Given the description of an element on the screen output the (x, y) to click on. 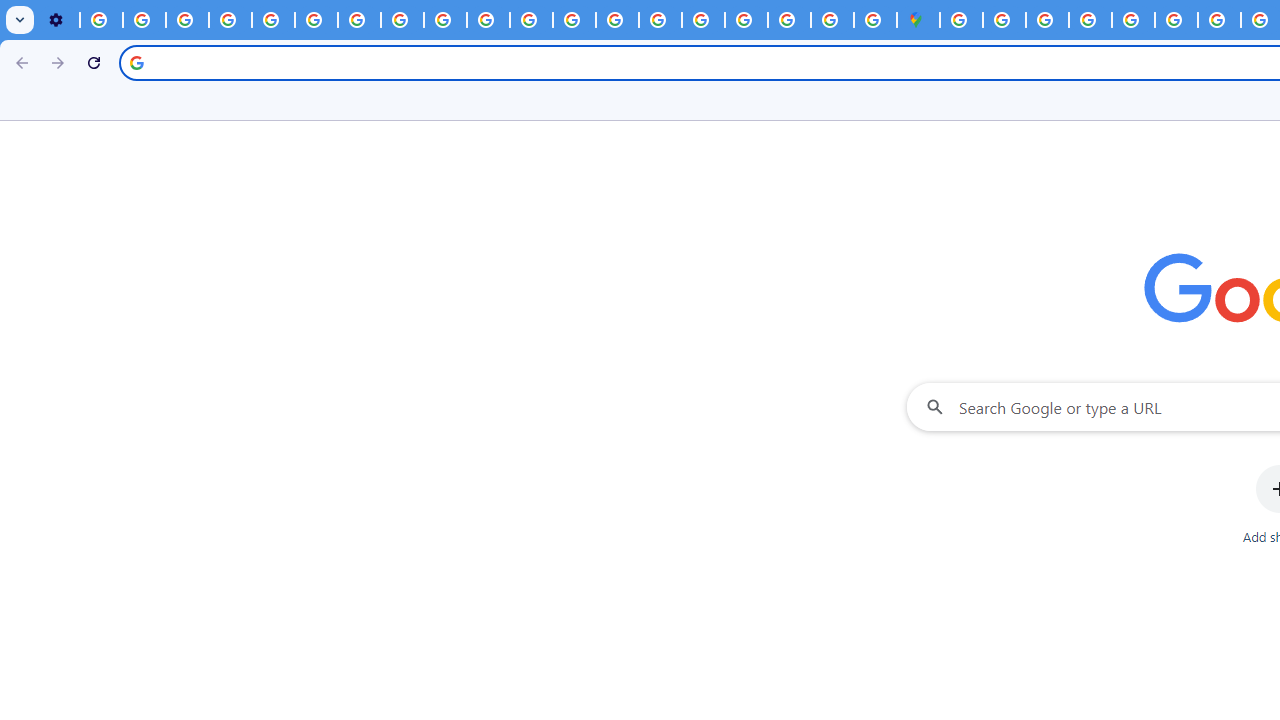
Privacy Checkup (445, 20)
Sign in - Google Accounts (745, 20)
Terms and Conditions (1133, 20)
Blogger Policies and Guidelines - Transparency Center (1219, 20)
YouTube (315, 20)
Privacy Help Center - Policies Help (273, 20)
Google Maps (918, 20)
Delete photos & videos - Computer - Google Photos Help (100, 20)
